Given the description of an element on the screen output the (x, y) to click on. 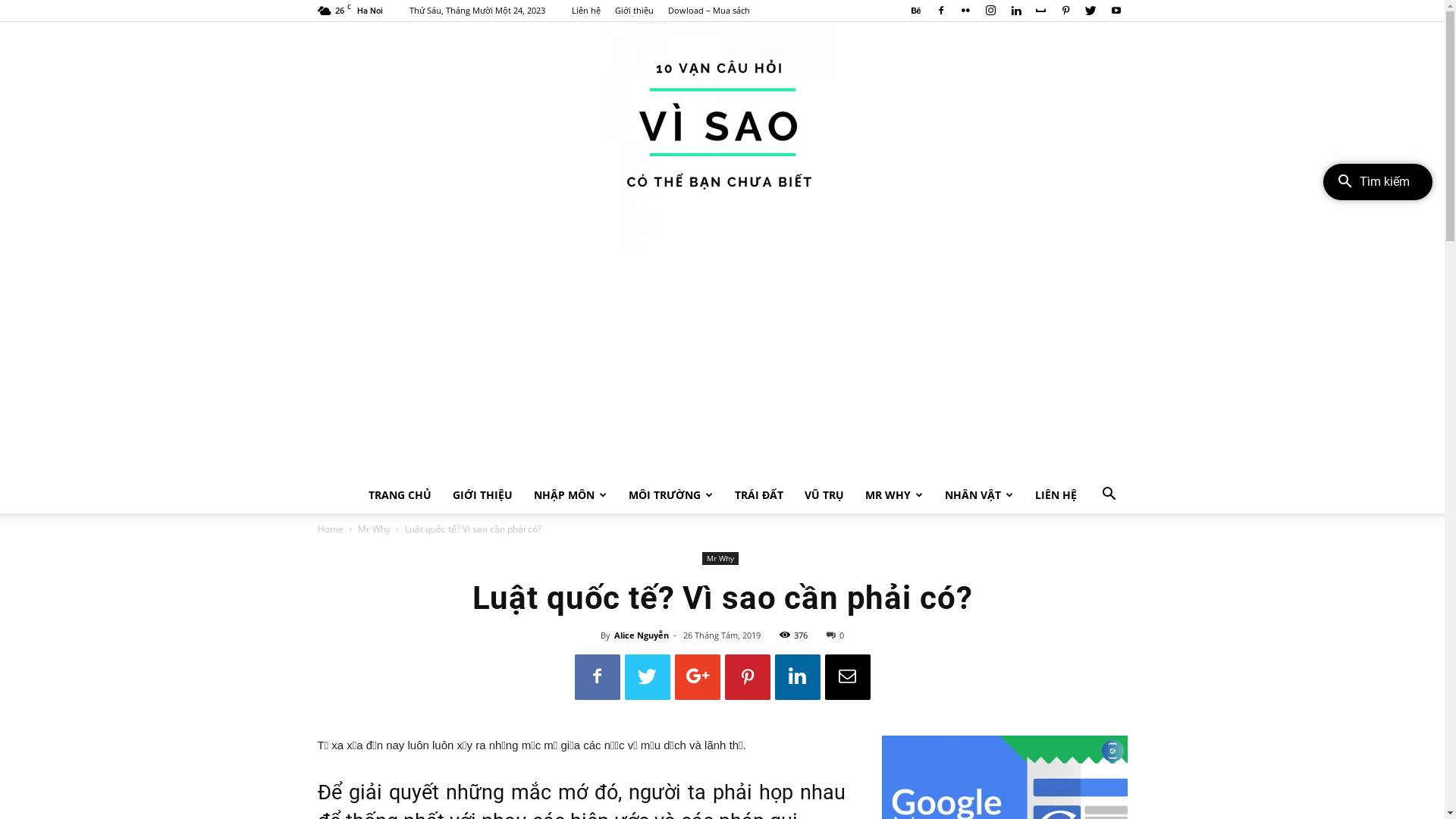
Mr Why Element type: text (720, 558)
Linkedin Element type: hover (1015, 10)
Myspace Element type: hover (1040, 10)
Advertisement Element type: hover (721, 363)
Behance Element type: hover (914, 10)
Instagram Element type: hover (990, 10)
Twitter Element type: hover (1090, 10)
Pinterest Element type: hover (1065, 10)
Mr Why Element type: text (373, 528)
Search Element type: text (1085, 555)
Flickr Element type: hover (964, 10)
0 Element type: text (835, 634)
Youtube Element type: hover (1115, 10)
Facebook Element type: hover (940, 10)
Home Element type: text (329, 528)
MR WHY Element type: text (893, 494)
